Given the description of an element on the screen output the (x, y) to click on. 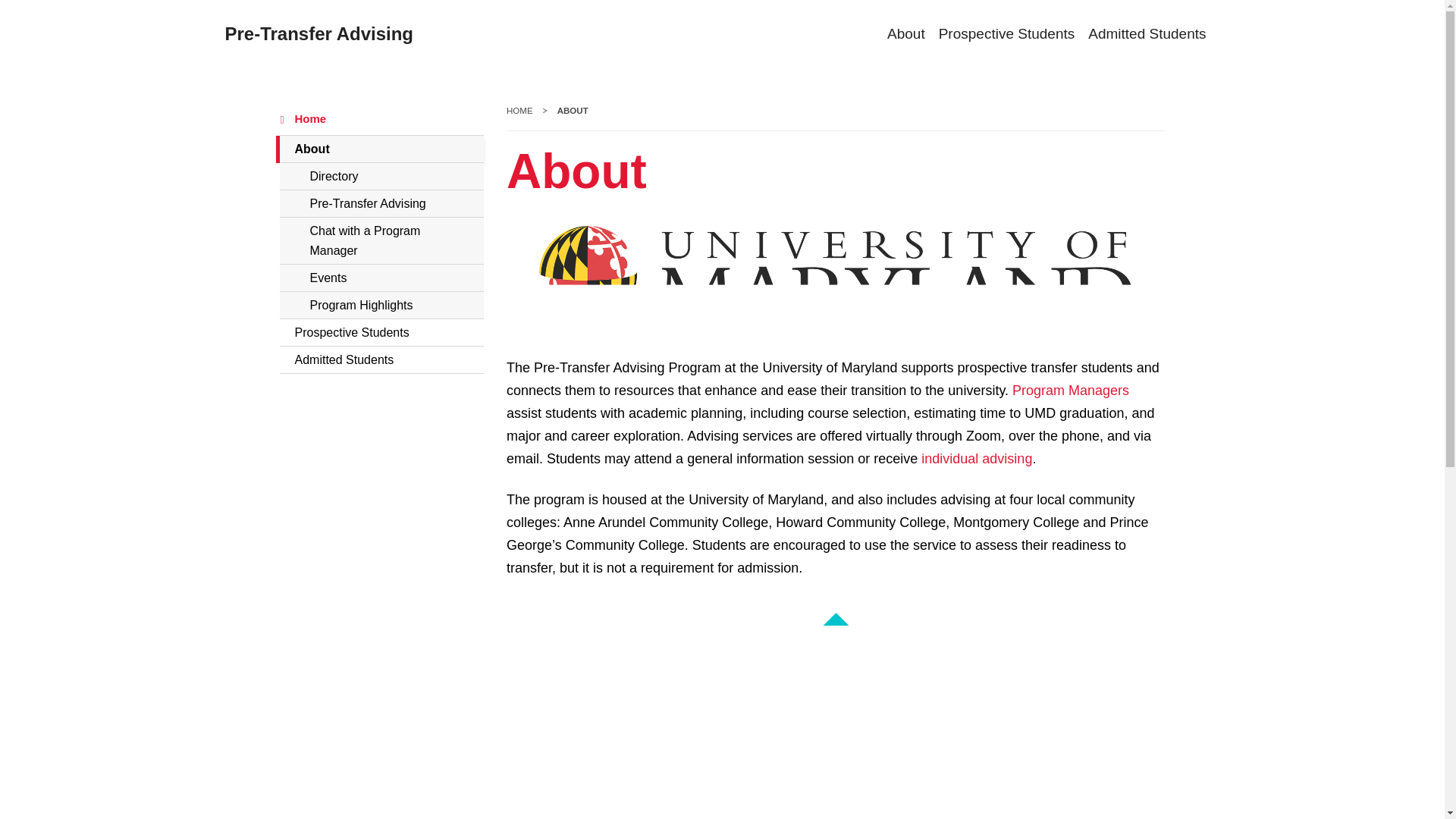
HOME (519, 110)
Directory (381, 176)
Home (381, 118)
individual advising (976, 458)
Admitted Students (1147, 34)
Pre-Transfer Advising (381, 203)
Pre-Transfer Advising (318, 34)
About (898, 34)
Program Managers (1070, 390)
